Given the description of an element on the screen output the (x, y) to click on. 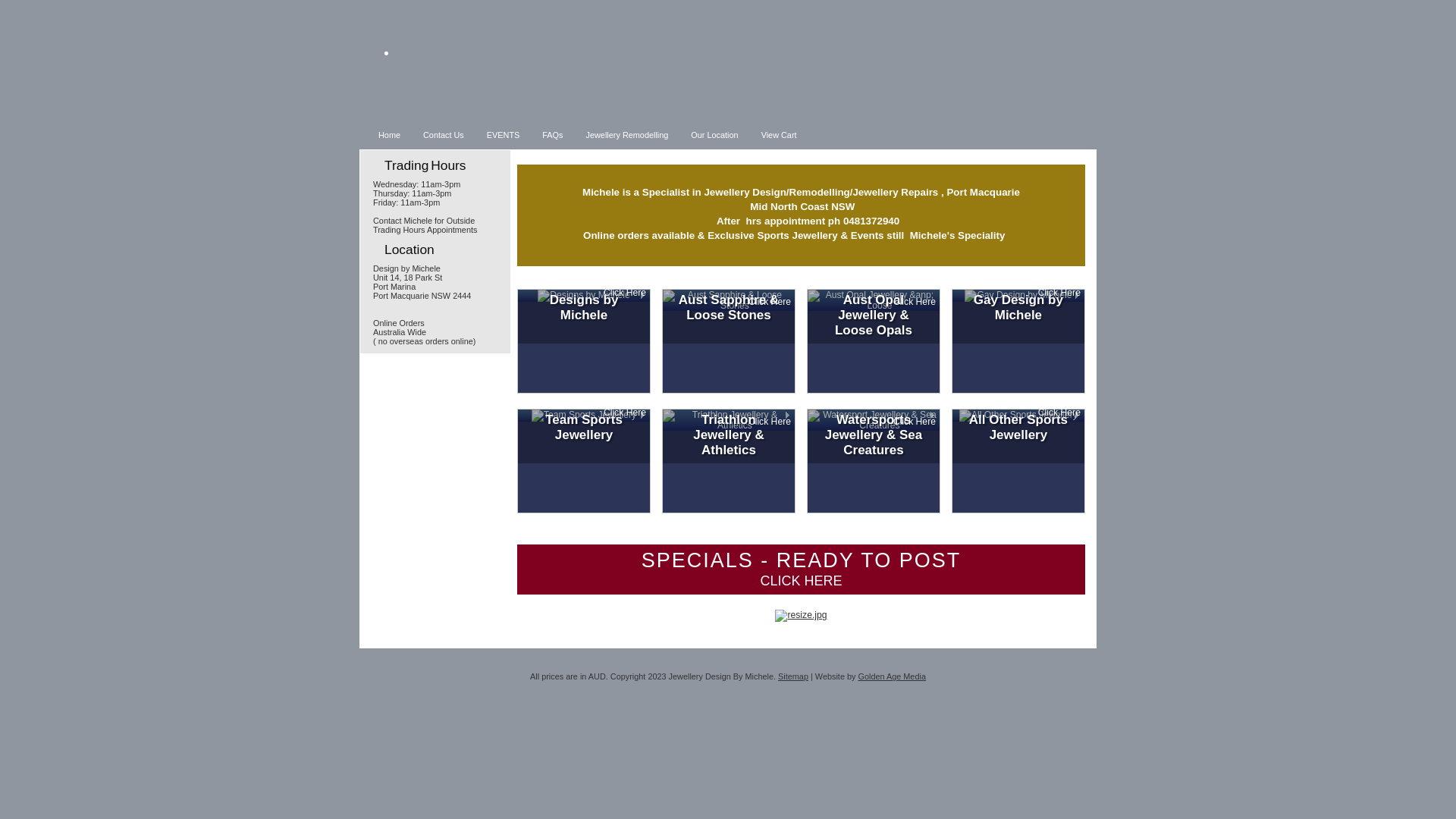
Jewellery Remodelling Element type: text (627, 133)
EVENTS Element type: text (503, 133)
Home Element type: text (389, 133)
. Element type: text (386, 43)
FAQs Element type: text (552, 133)
Sitemap Element type: text (793, 675)
resize.jpg Element type: hover (800, 615)
Contact Us Element type: text (443, 133)
View Cart Element type: text (778, 133)
Our Location Element type: text (714, 133)
Golden Age Media Element type: text (891, 675)
Aust Opal Jewellery & Loose Opals
Click Here Element type: text (873, 299)
Aust Sapphire & Loose Stones
Click Here Element type: text (728, 299)
SPECIALS - READY TO POST
CLICK HERE Element type: text (801, 569)
